Given the description of an element on the screen output the (x, y) to click on. 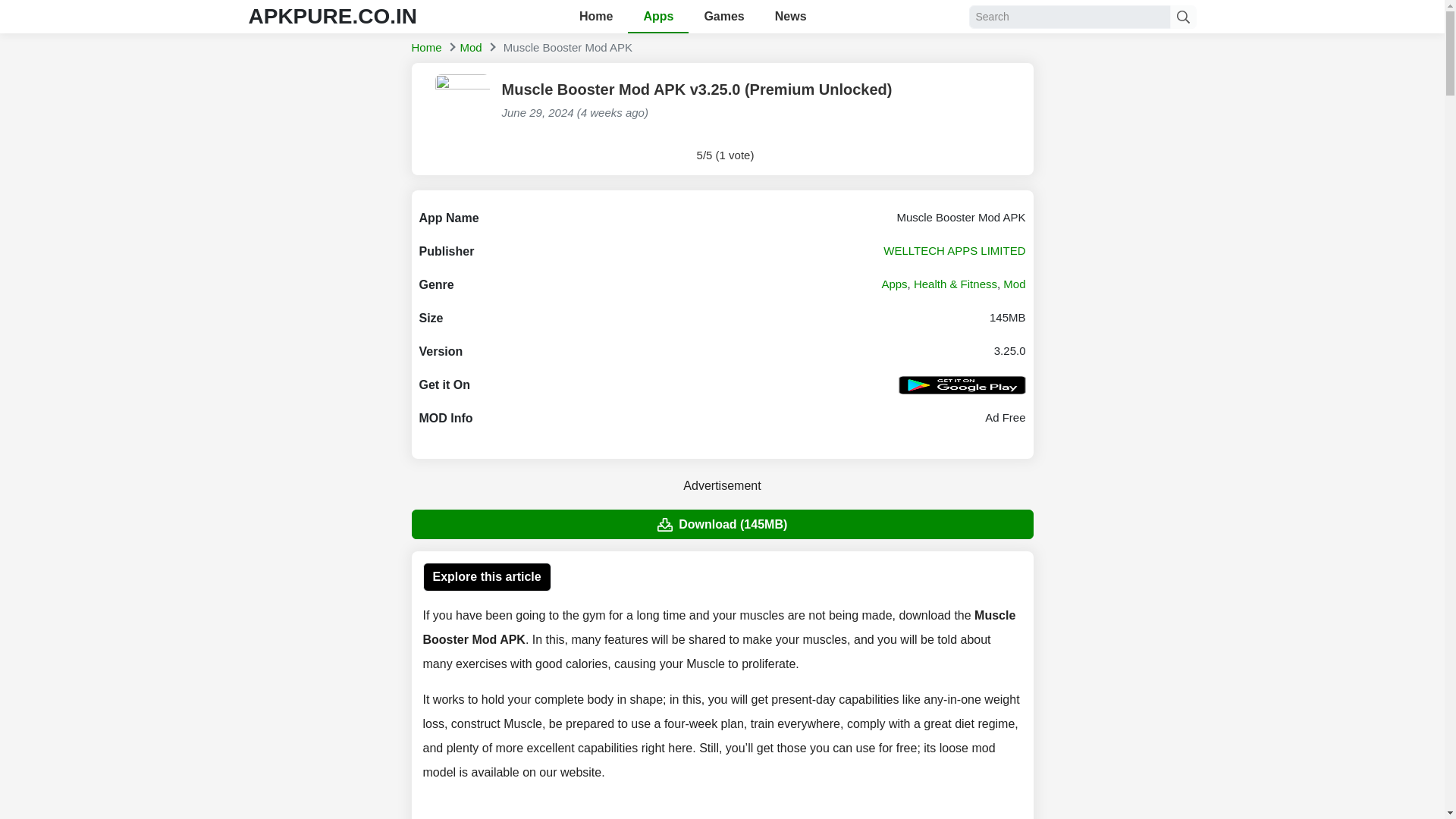
Explore this article (487, 576)
Mod (470, 47)
News (791, 16)
Apps (893, 283)
APKPURE.CO.IN (332, 15)
Home (425, 47)
Mod (1014, 283)
Home (595, 16)
WELLTECH APPS LIMITED (954, 250)
Home (425, 47)
Games (723, 16)
Apps (657, 16)
